Given the description of an element on the screen output the (x, y) to click on. 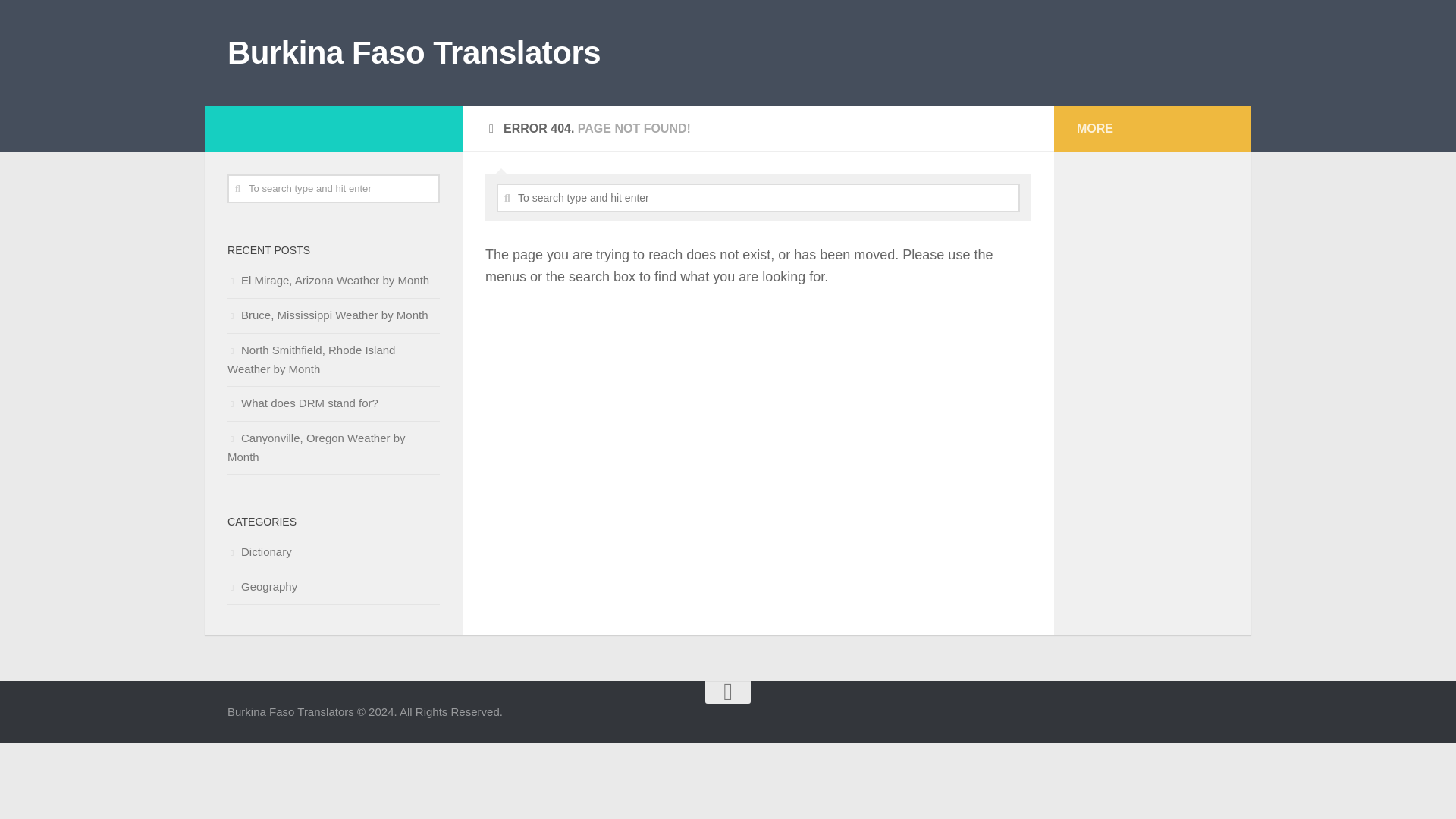
To search type and hit enter (333, 188)
Burkina Faso Translators (413, 53)
El Mirage, Arizona Weather by Month (328, 279)
Bruce, Mississippi Weather by Month (327, 314)
To search type and hit enter (333, 188)
To search type and hit enter (758, 197)
Dictionary (259, 551)
Geography (262, 585)
North Smithfield, Rhode Island Weather by Month (310, 359)
To search type and hit enter (758, 197)
